Given the description of an element on the screen output the (x, y) to click on. 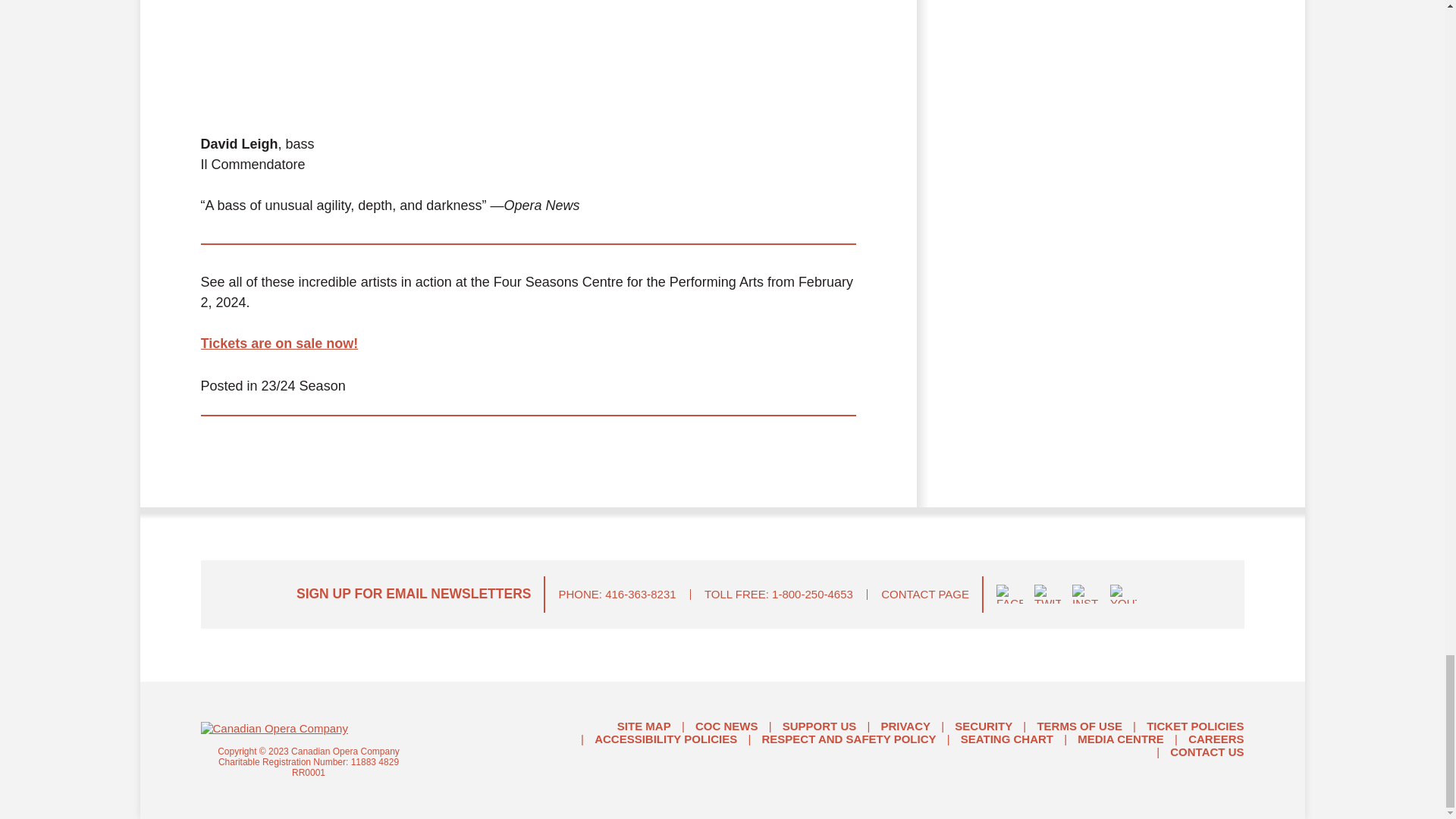
Tickets are on sale now! (279, 343)
